Given the description of an element on the screen output the (x, y) to click on. 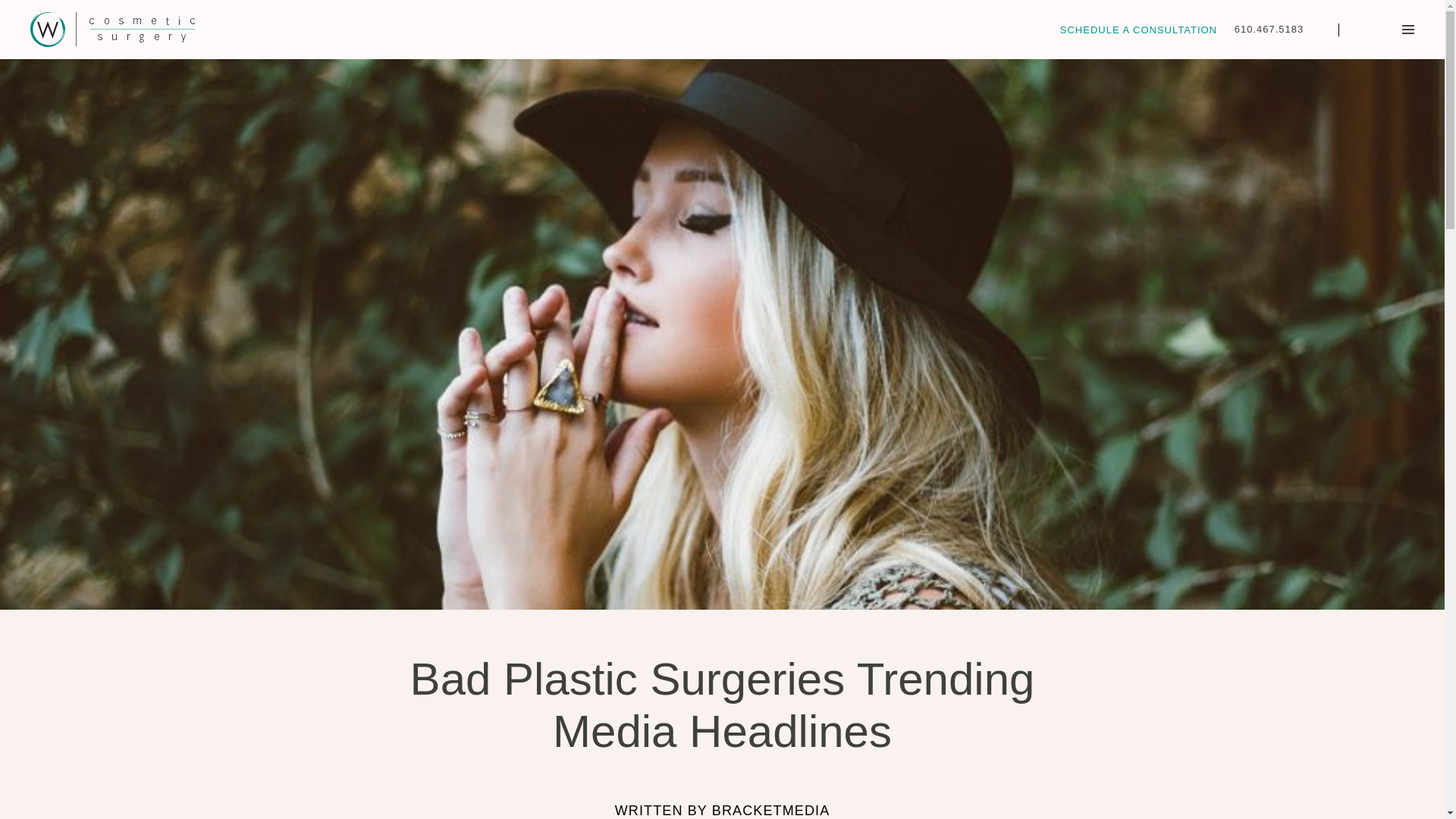
SCHEDULE A CONSULTATION (1138, 30)
Open Menu (1407, 28)
bracketmedia (770, 810)
610.467.5183 (1269, 29)
